Given the description of an element on the screen output the (x, y) to click on. 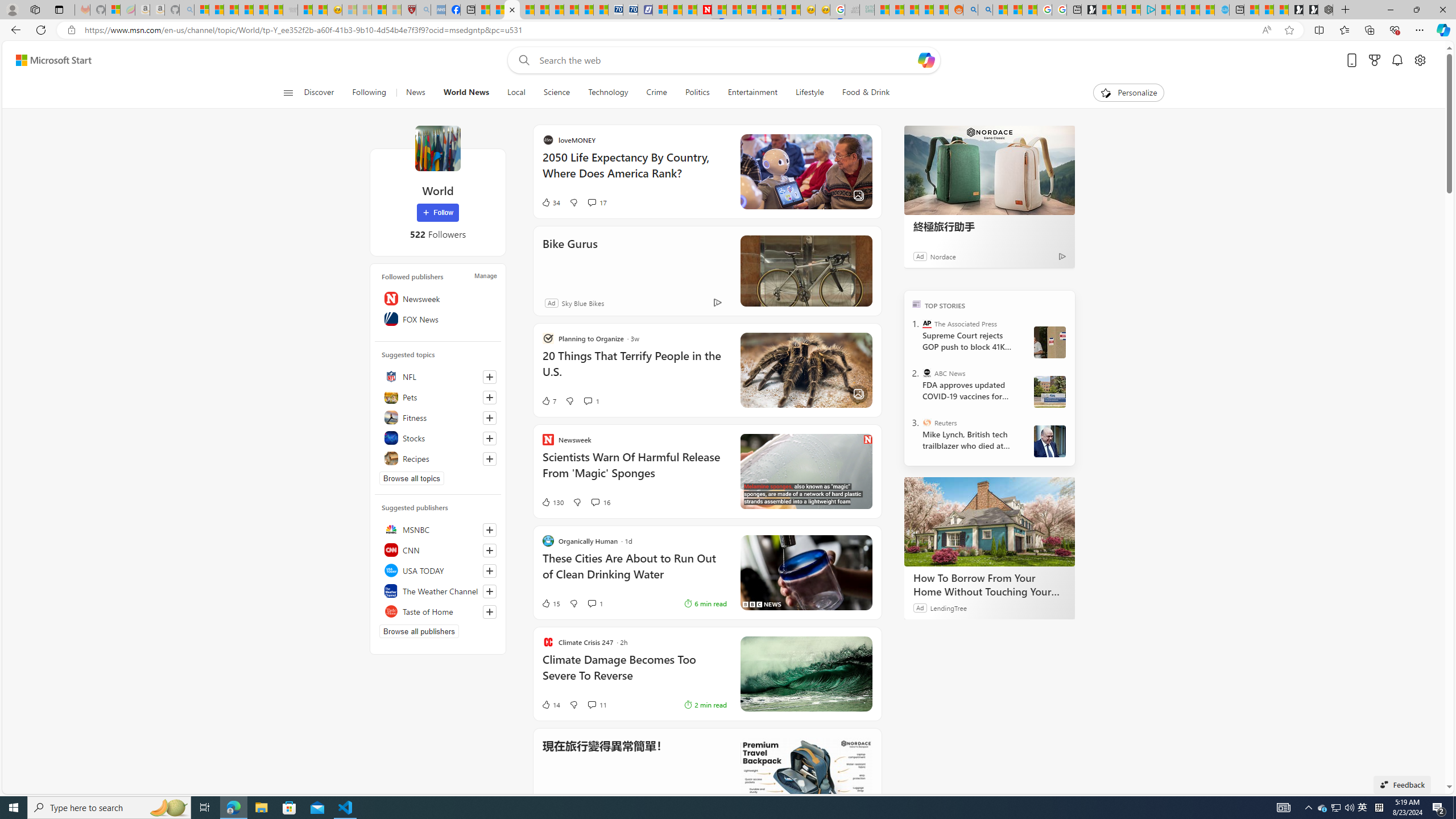
View comments 16 Comment (599, 502)
Newsweek (437, 298)
Student Loan Update: Forgiveness Program Ends This Month (926, 9)
34 Like (549, 202)
